Given the description of an element on the screen output the (x, y) to click on. 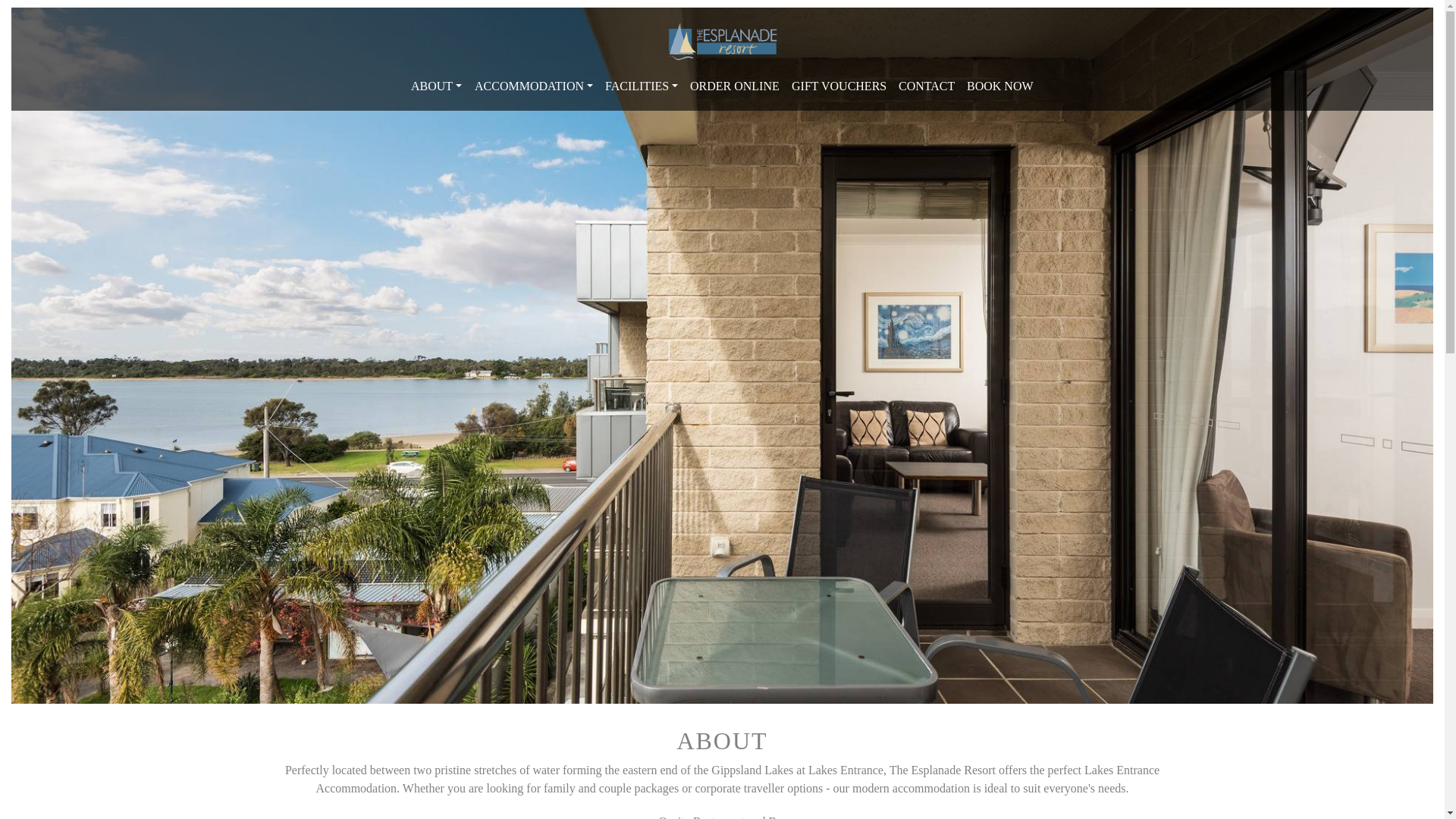
FACILITIES Element type: text (641, 86)
ACCOMMODATION Element type: text (533, 86)
GIFT VOUCHERS Element type: text (838, 86)
BOOK NOW Element type: text (999, 86)
CONTACT Element type: text (926, 86)
ORDER ONLINE Element type: text (734, 86)
ABOUT Element type: text (435, 86)
